Given the description of an element on the screen output the (x, y) to click on. 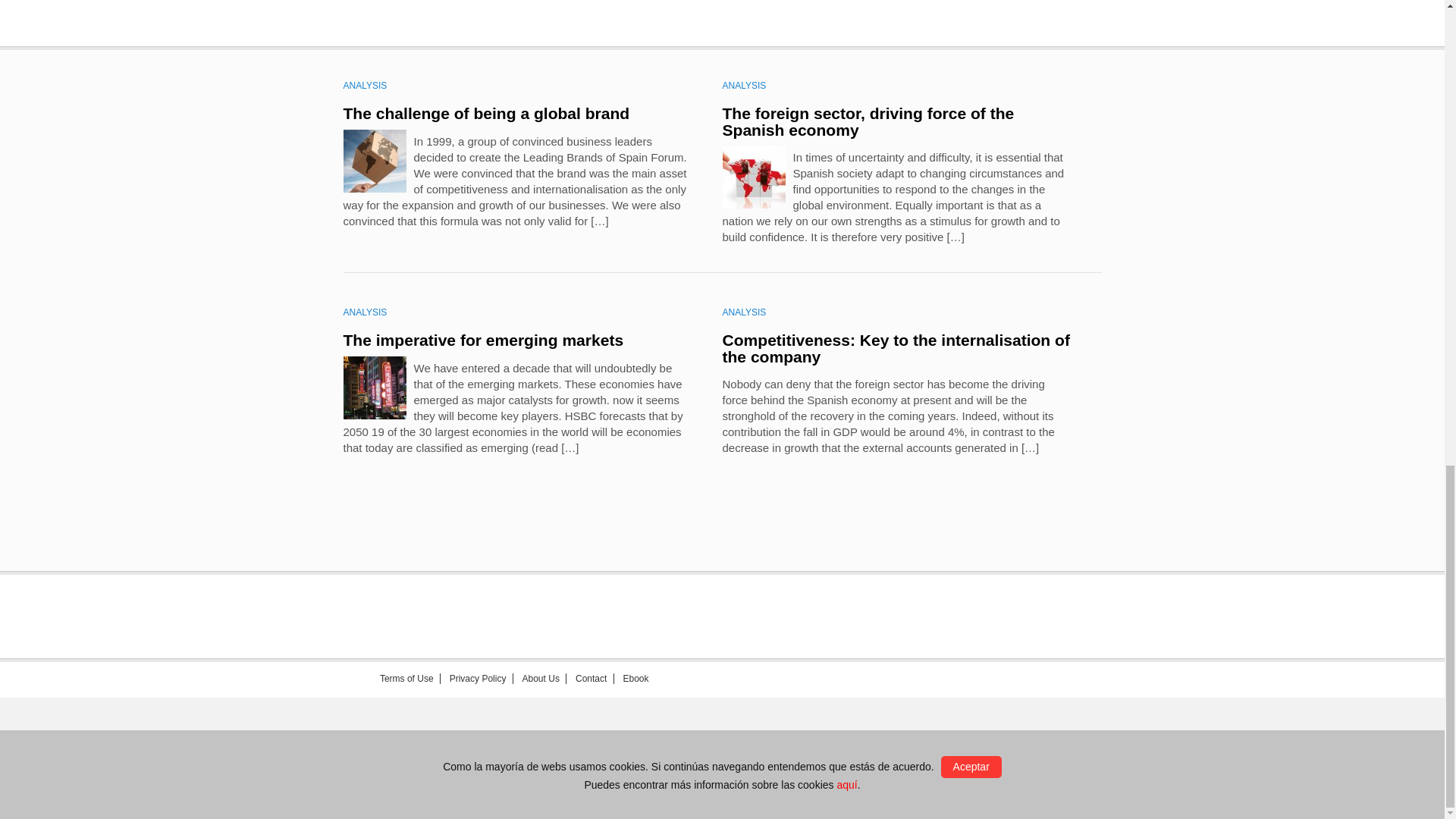
The challenge of being a global brand (485, 113)
The imperative for emerging markets (482, 339)
The challenge of being a global brand (485, 113)
The foreign sector, driving force of the Spanish economy (867, 121)
OEPM (622, 771)
ICEX (493, 771)
ANALYSIS (364, 85)
Competitiveness: Key to the internalisation of the company (895, 348)
The imperative for emerging markets (482, 339)
The foreign sector, driving force of the Spanish economy (867, 121)
ANALYSIS (743, 85)
ANALYSIS (364, 312)
